Given the description of an element on the screen output the (x, y) to click on. 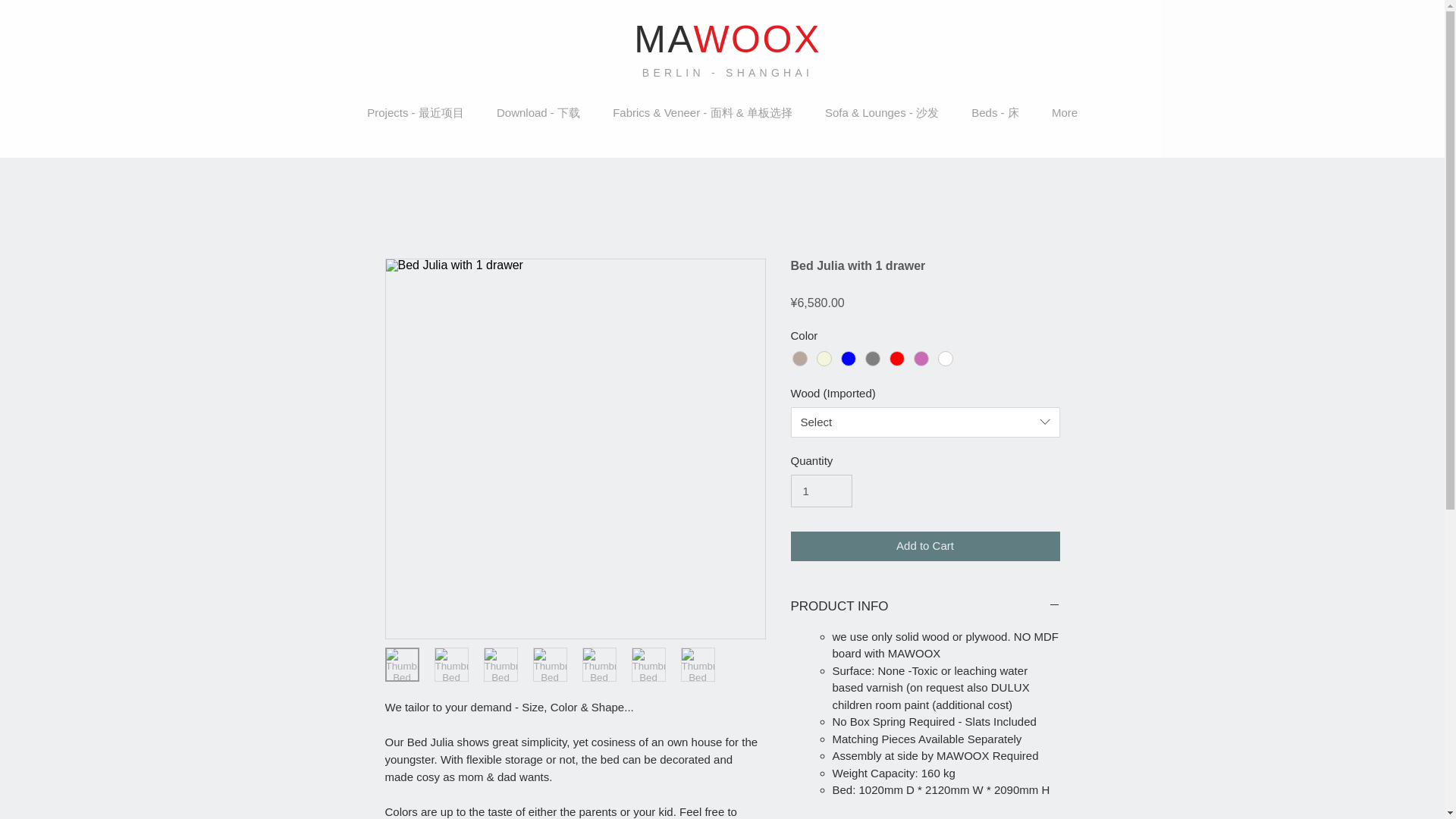
PRODUCT INFO (924, 606)
Select (924, 422)
Add to Cart (924, 546)
1 (820, 491)
